Given the description of an element on the screen output the (x, y) to click on. 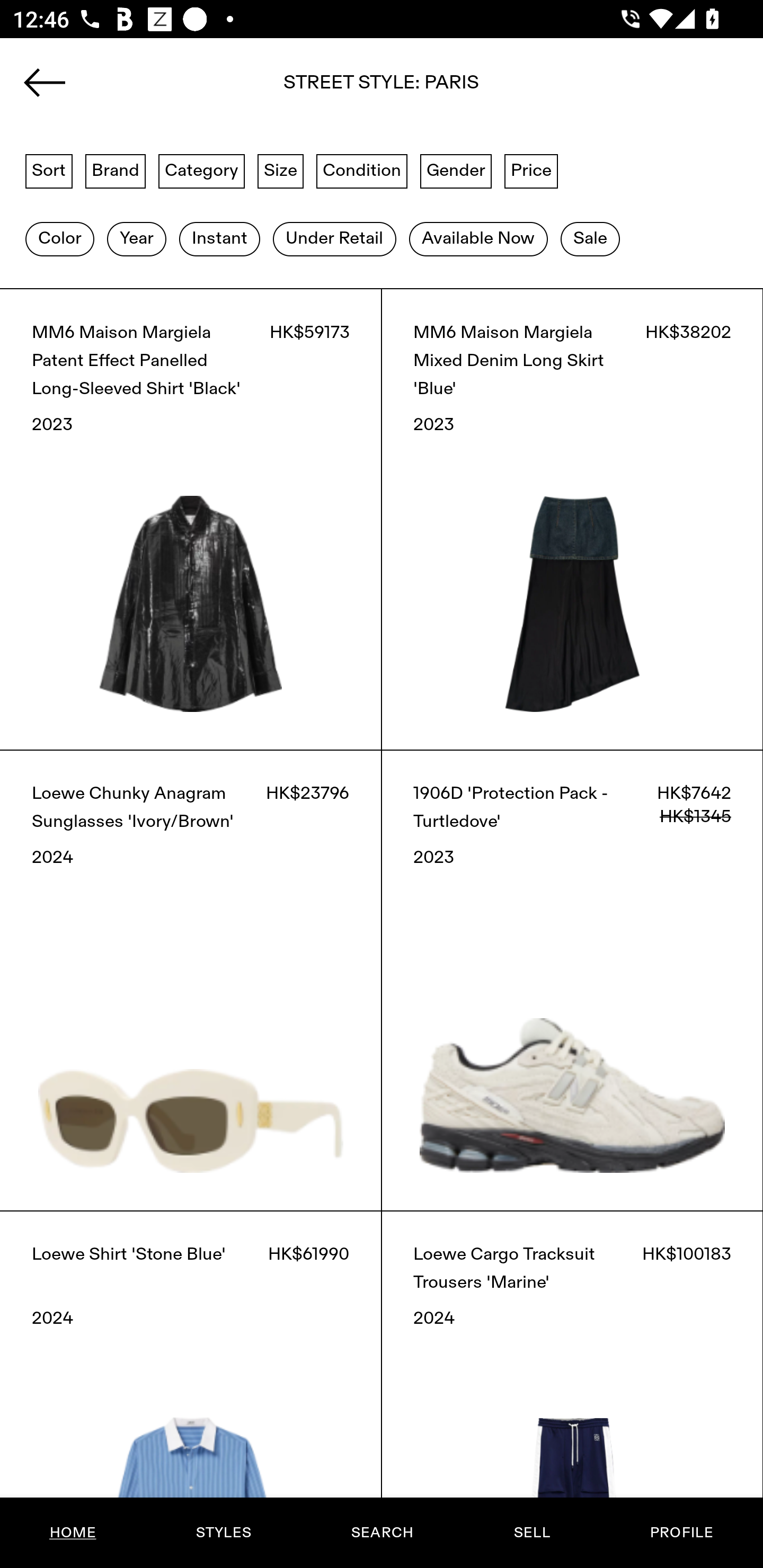
basketball shoes (381, 88)
Sort (48, 170)
Brand (115, 170)
Category (201, 170)
Size (280, 170)
Condition (361, 170)
Gender (455, 170)
Price (530, 170)
Color (59, 239)
Year (136, 239)
Instant (219, 239)
Under Retail (334, 239)
Available Now (477, 239)
Sale (589, 239)
Loewe Shirt 'Stone Blue' HK$61990 2024 (190, 1389)
HOME (72, 1532)
STYLES (222, 1532)
SEARCH (381, 1532)
SELL (531, 1532)
PROFILE (681, 1532)
